Given the description of an element on the screen output the (x, y) to click on. 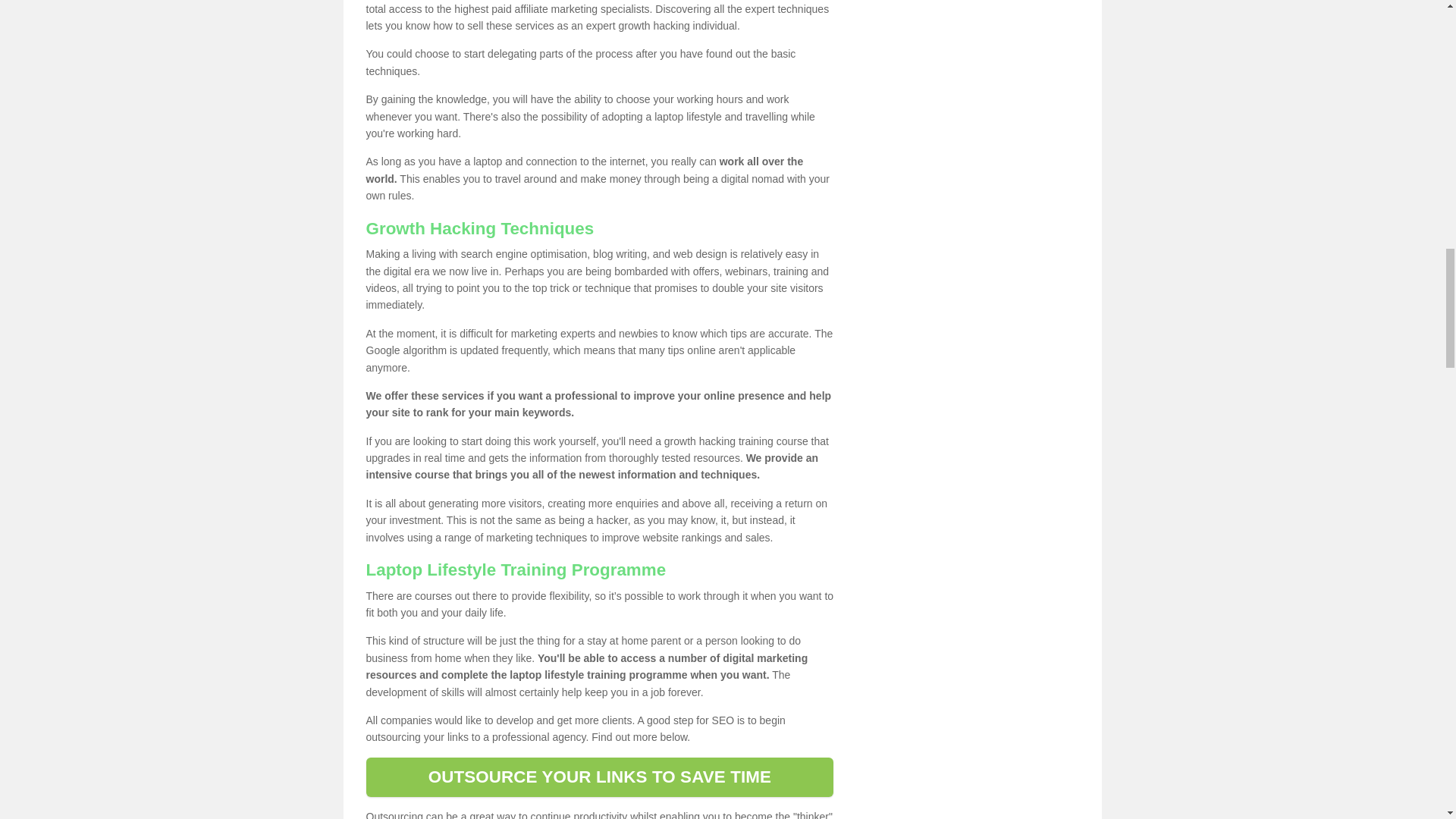
OUTSOURCE YOUR LINKS TO SAVE TIME (598, 776)
